Given the description of an element on the screen output the (x, y) to click on. 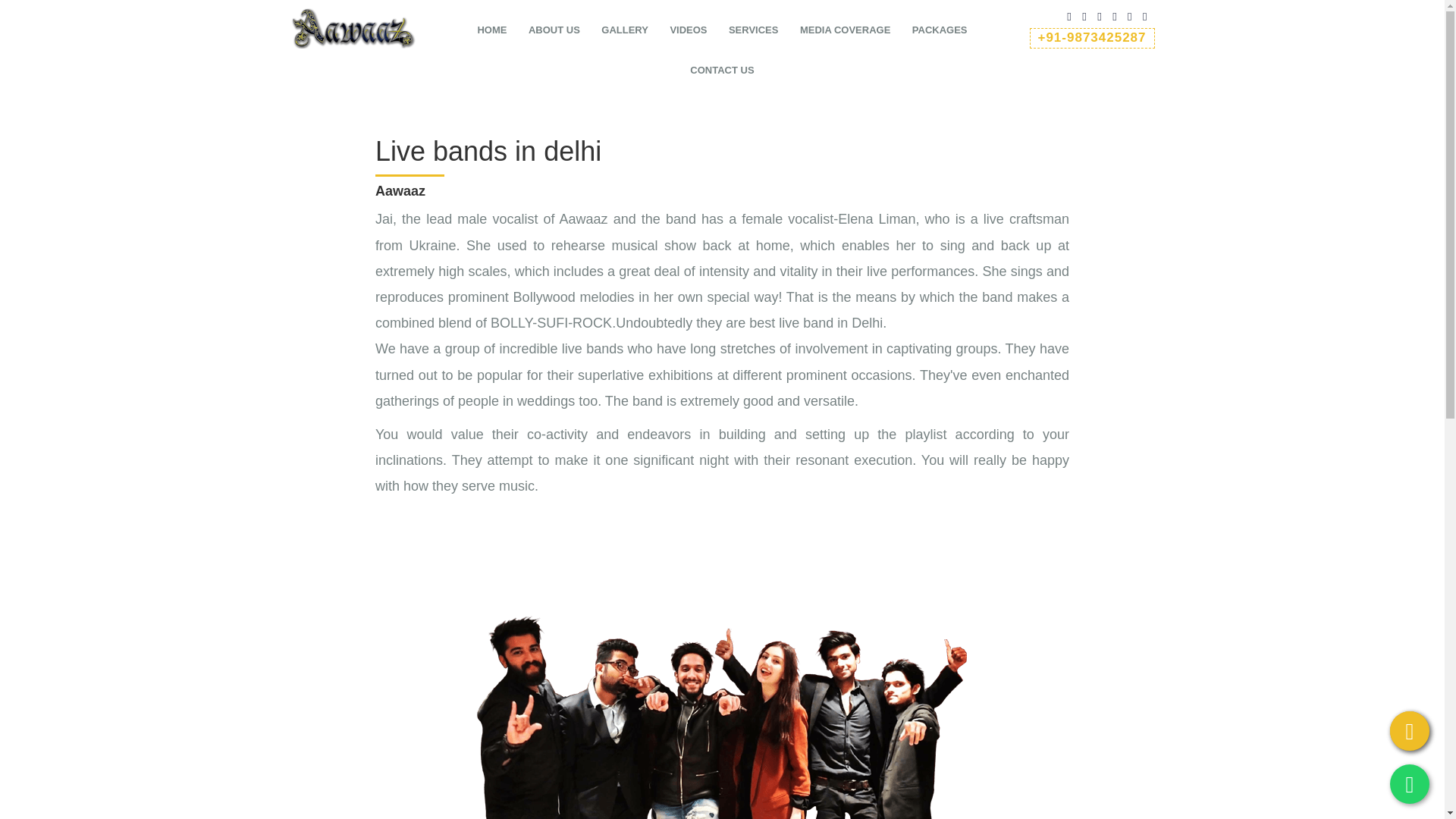
PACKAGES (940, 32)
Aawaaz The Bands Logo (351, 28)
SERVICES (753, 32)
MEDIA COVERAGE (844, 32)
ABOUT US (553, 32)
GALLERY (624, 32)
HOME (491, 32)
CONTACT US (722, 73)
VIDEOS (687, 32)
